Given the description of an element on the screen output the (x, y) to click on. 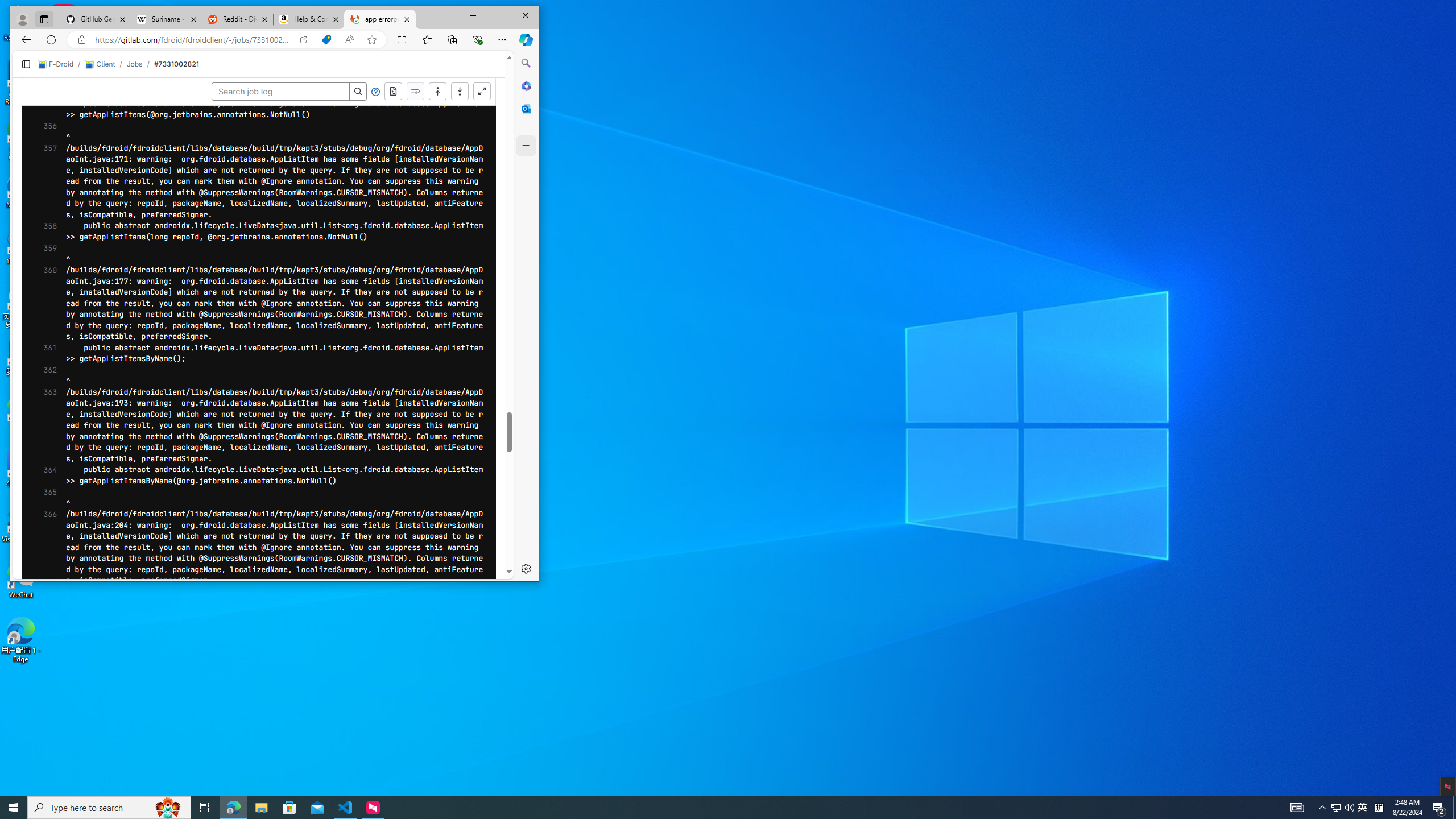
413 (41, 288)
414 (41, 300)
Search job log (1193, 81)
Microsoft Store (289, 807)
Scroll to bottom (1061, 81)
430 (41, 477)
AutomationID: 4105 (1297, 807)
User Promoted Notification Area (1342, 807)
392 (41, 56)
Scroll to next failure (1327, 81)
